Given the description of an element on the screen output the (x, y) to click on. 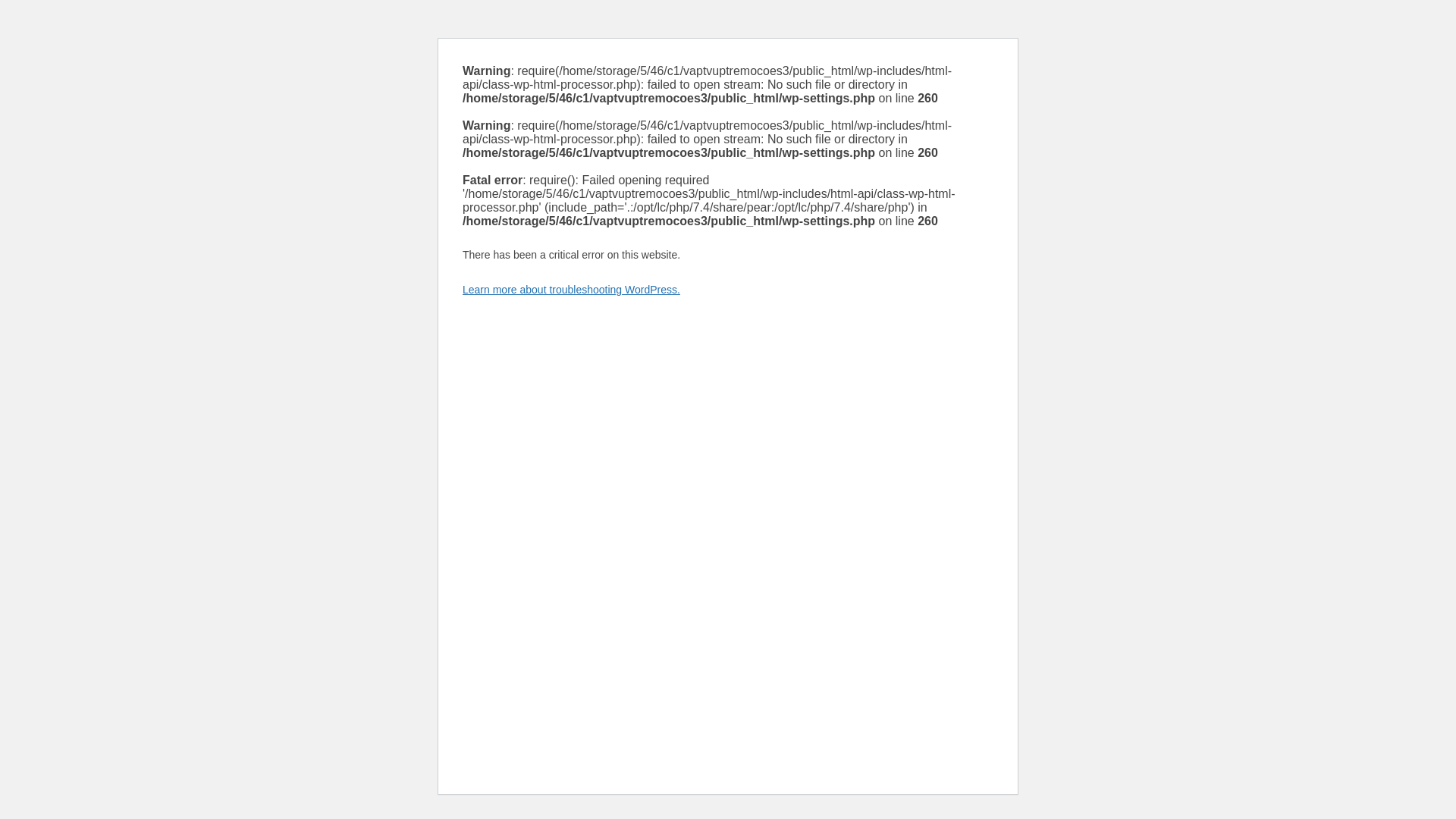
Learn more about troubleshooting WordPress. (571, 289)
